Given the description of an element on the screen output the (x, y) to click on. 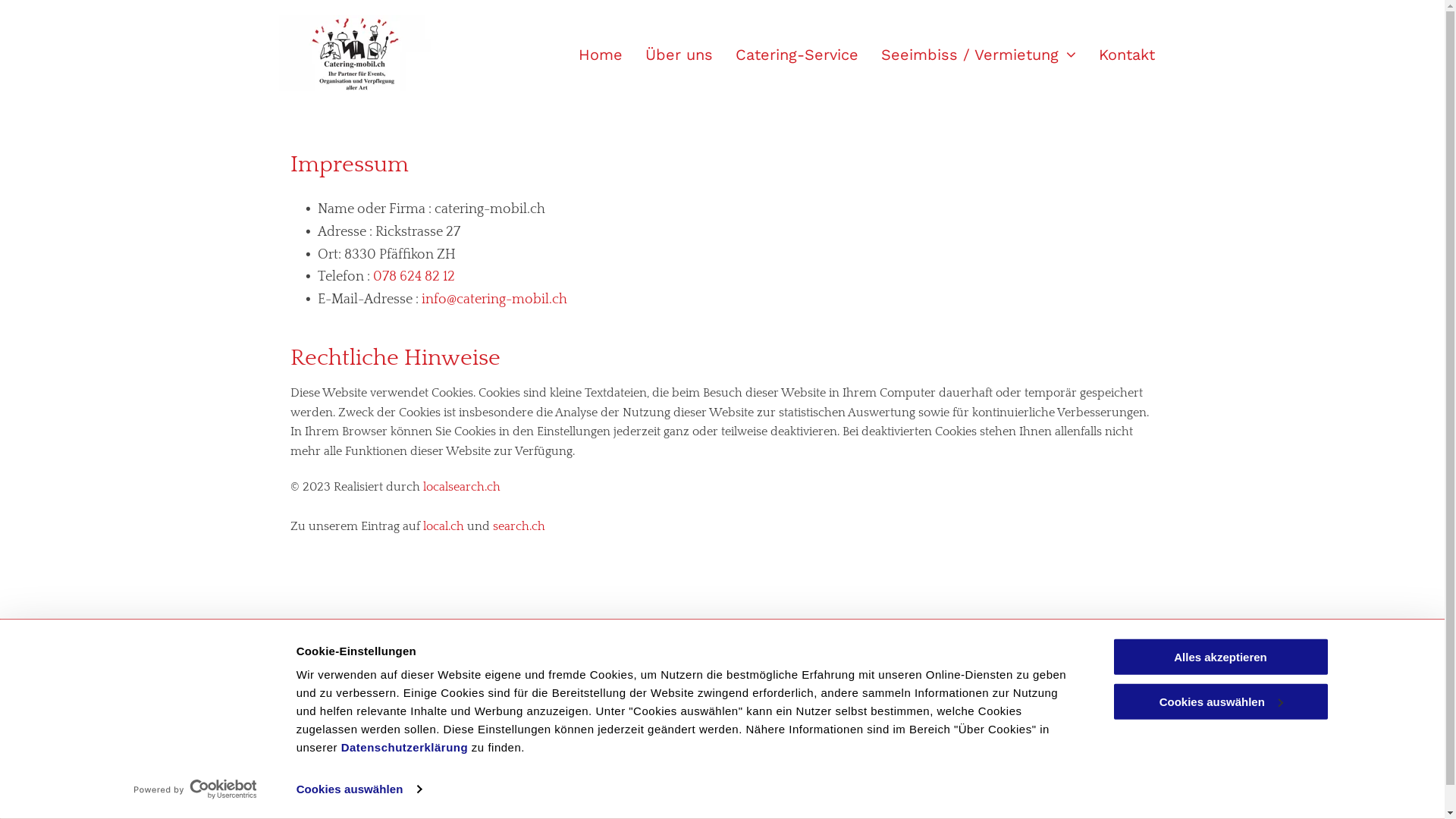
078 624 82 12 Element type: text (414, 276)
Kontakt Element type: text (1114, 54)
078 624 82 12 Element type: text (548, 695)
Seeimbiss / Vermietung Element type: text (967, 54)
Impressum Element type: text (1122, 667)
info@catering-mobil.ch Element type: text (575, 733)
search.ch Element type: text (518, 526)
local.ch Element type: text (443, 526)
Home Element type: text (588, 54)
info@catering-mobil.ch Element type: text (494, 299)
Alles akzeptieren Element type: text (1219, 656)
localsearch.ch Element type: text (461, 486)
Catering-Service Element type: text (785, 54)
